Given the description of an element on the screen output the (x, y) to click on. 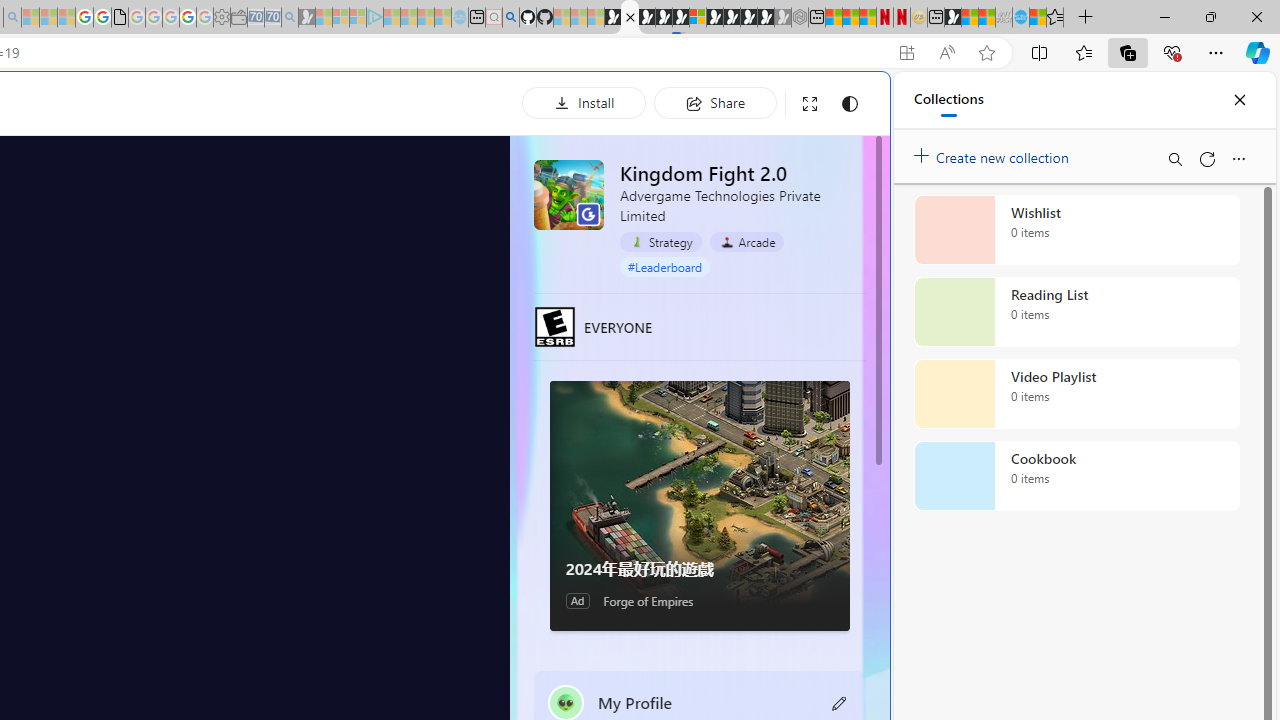
""'s avatar (565, 702)
Create new collection (994, 153)
Wishlist collection, 0 items (1076, 229)
